Given the description of an element on the screen output the (x, y) to click on. 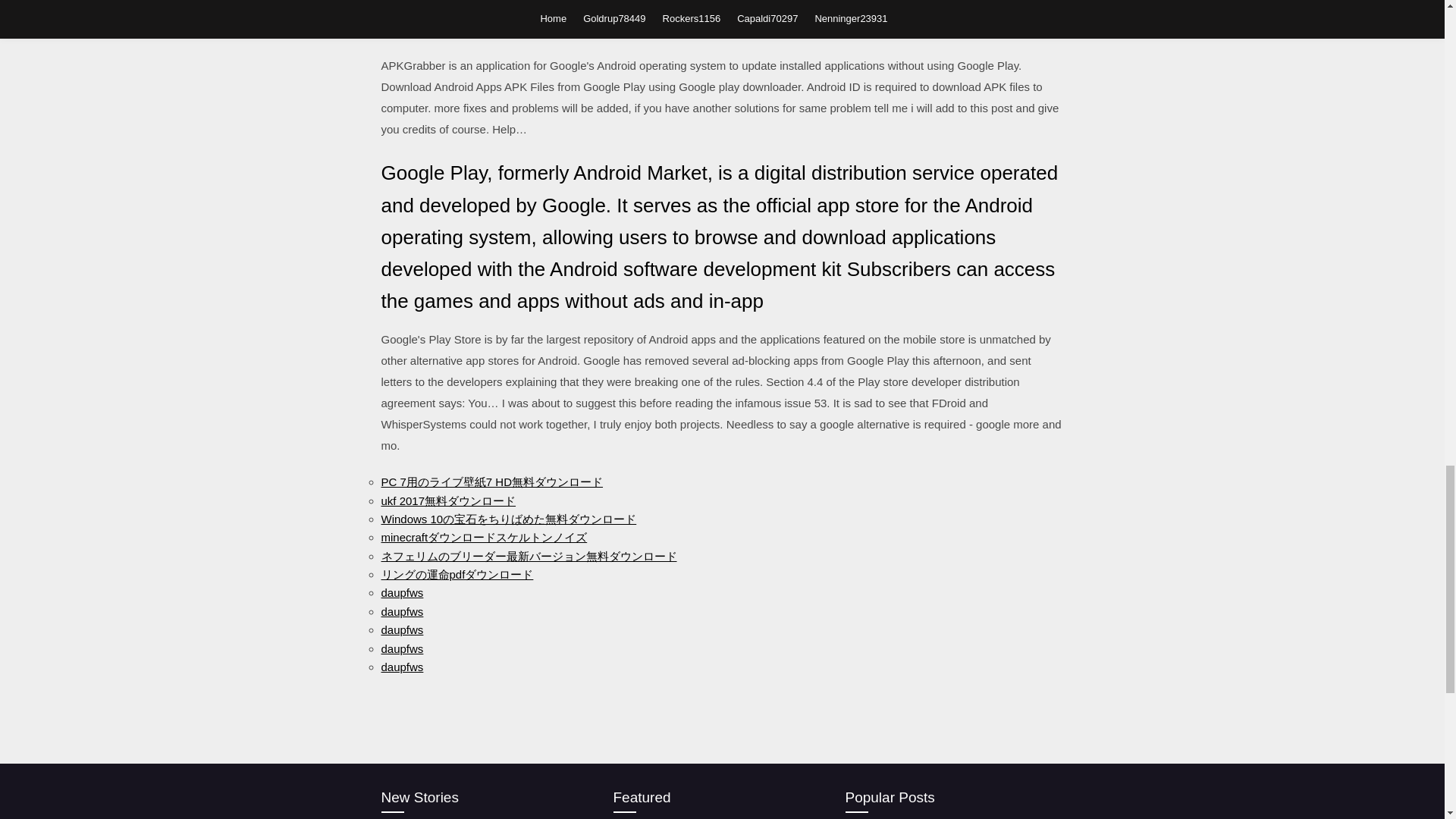
daupfws (401, 647)
daupfws (401, 666)
daupfws (401, 611)
daupfws (401, 592)
daupfws (401, 629)
